Given the description of an element on the screen output the (x, y) to click on. 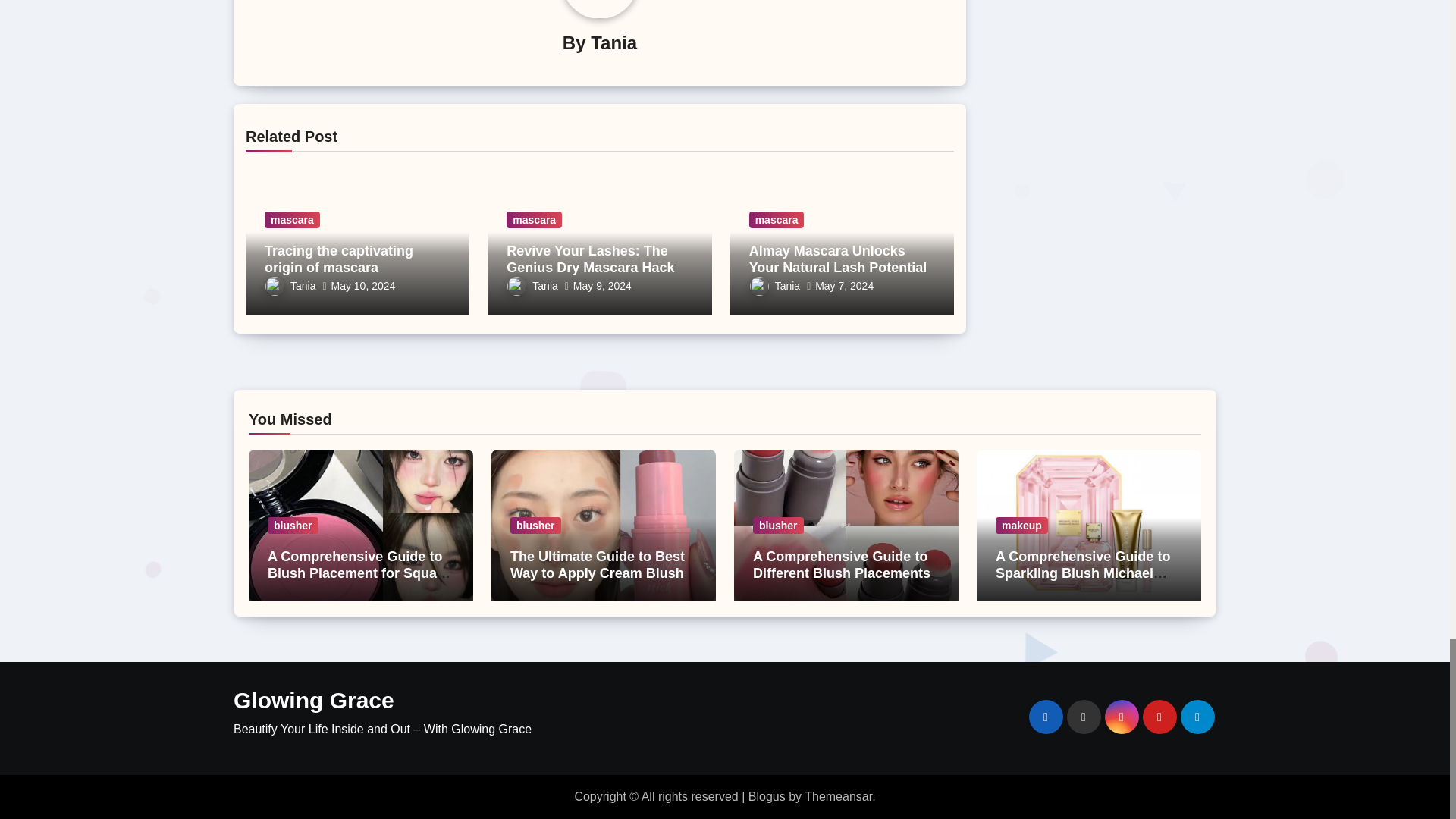
Tania (614, 42)
Tracing the captivating origin of mascara (338, 259)
Permalink to: Tracing the captivating origin of mascara (338, 259)
mascara (292, 219)
